Given the description of an element on the screen output the (x, y) to click on. 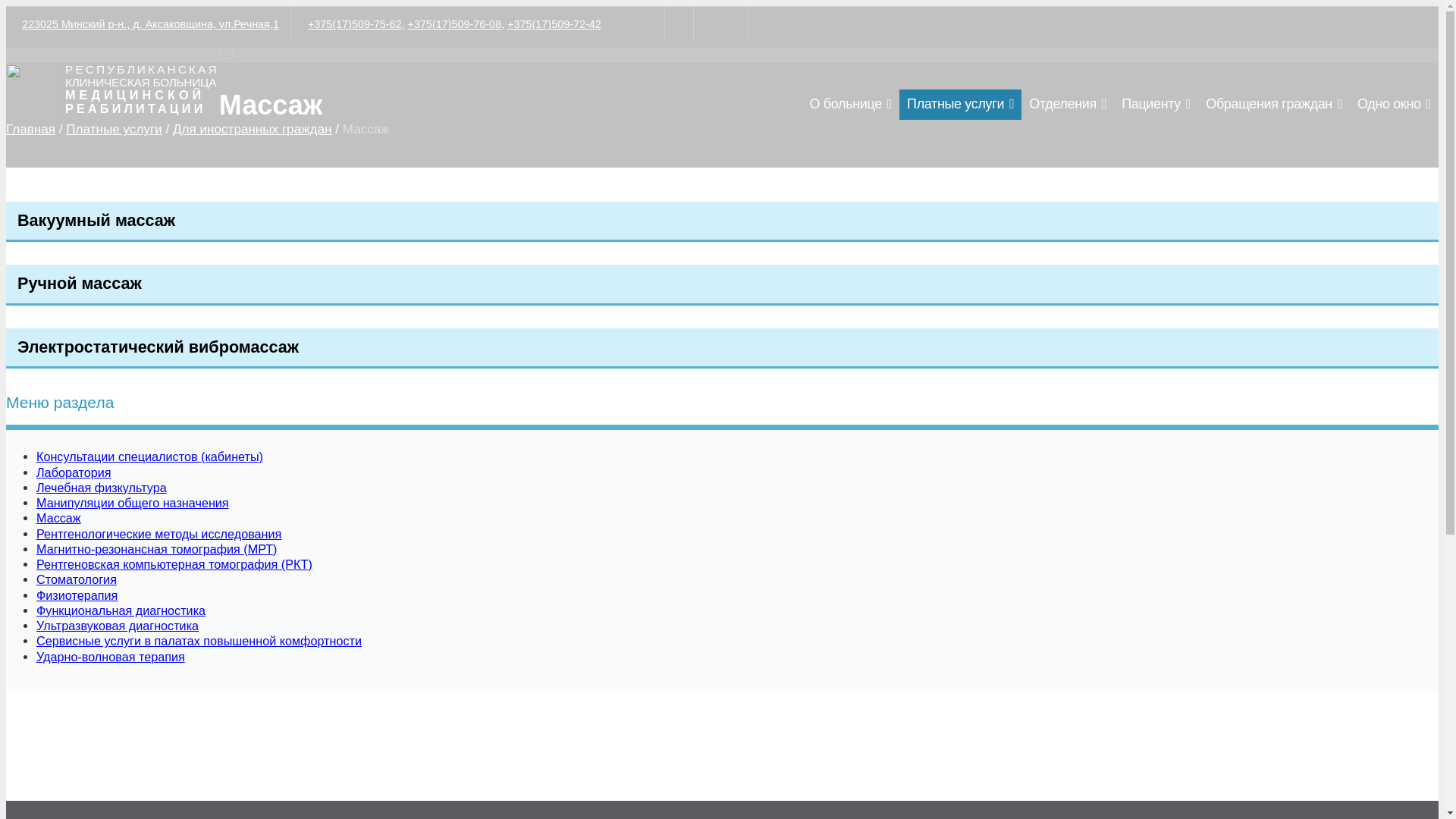
+375(17)509-75-62 Element type: text (354, 24)
+375(17)509-72-42 Element type: text (554, 24)
+375(17)509-76-08 Element type: text (454, 24)
